Given the description of an element on the screen output the (x, y) to click on. 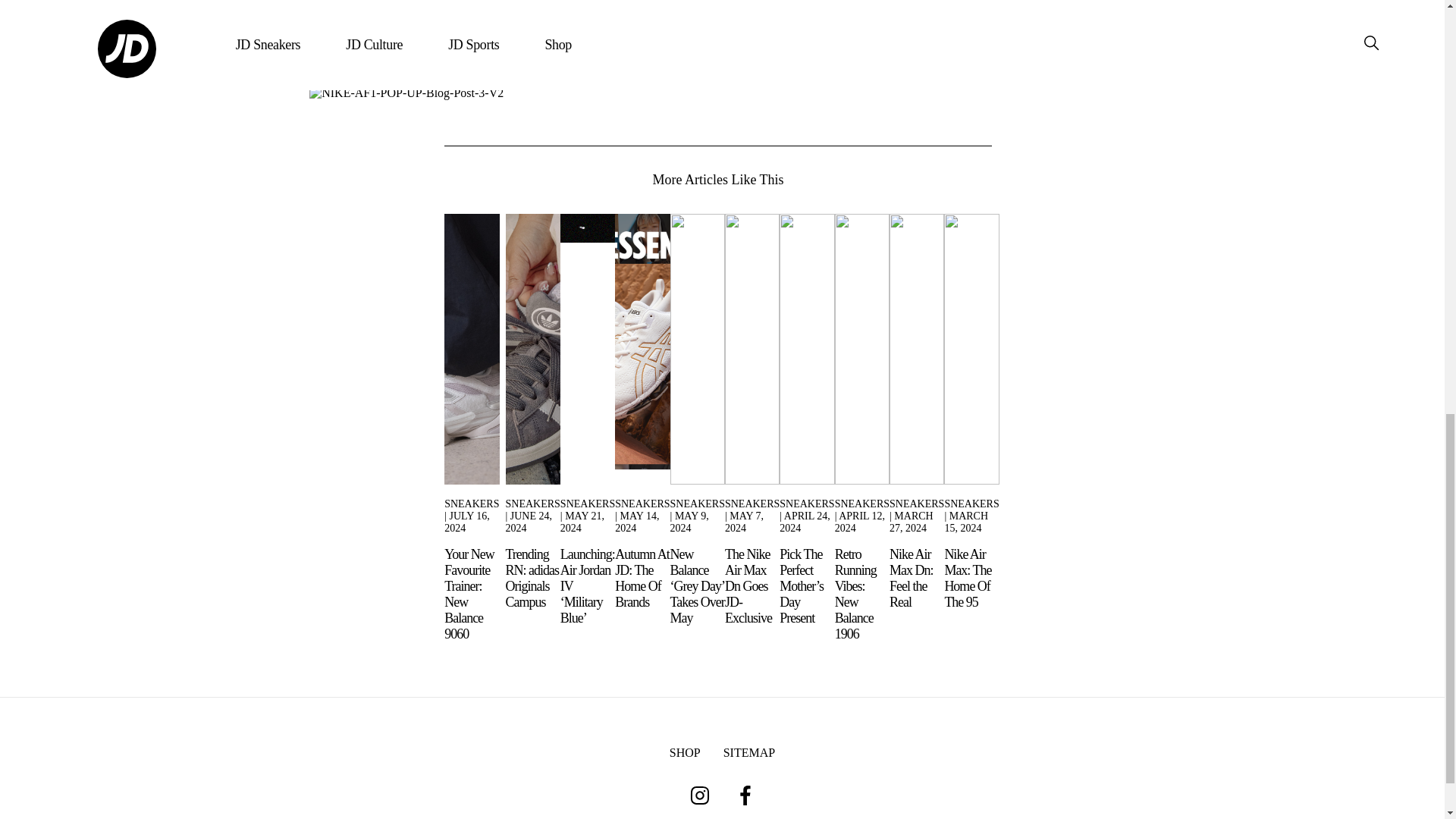
SNEAKERS (697, 503)
SNEAKERS (532, 503)
SNEAKERS (587, 503)
SNEAKERS (471, 503)
SNEAKERS (641, 503)
